Given the description of an element on the screen output the (x, y) to click on. 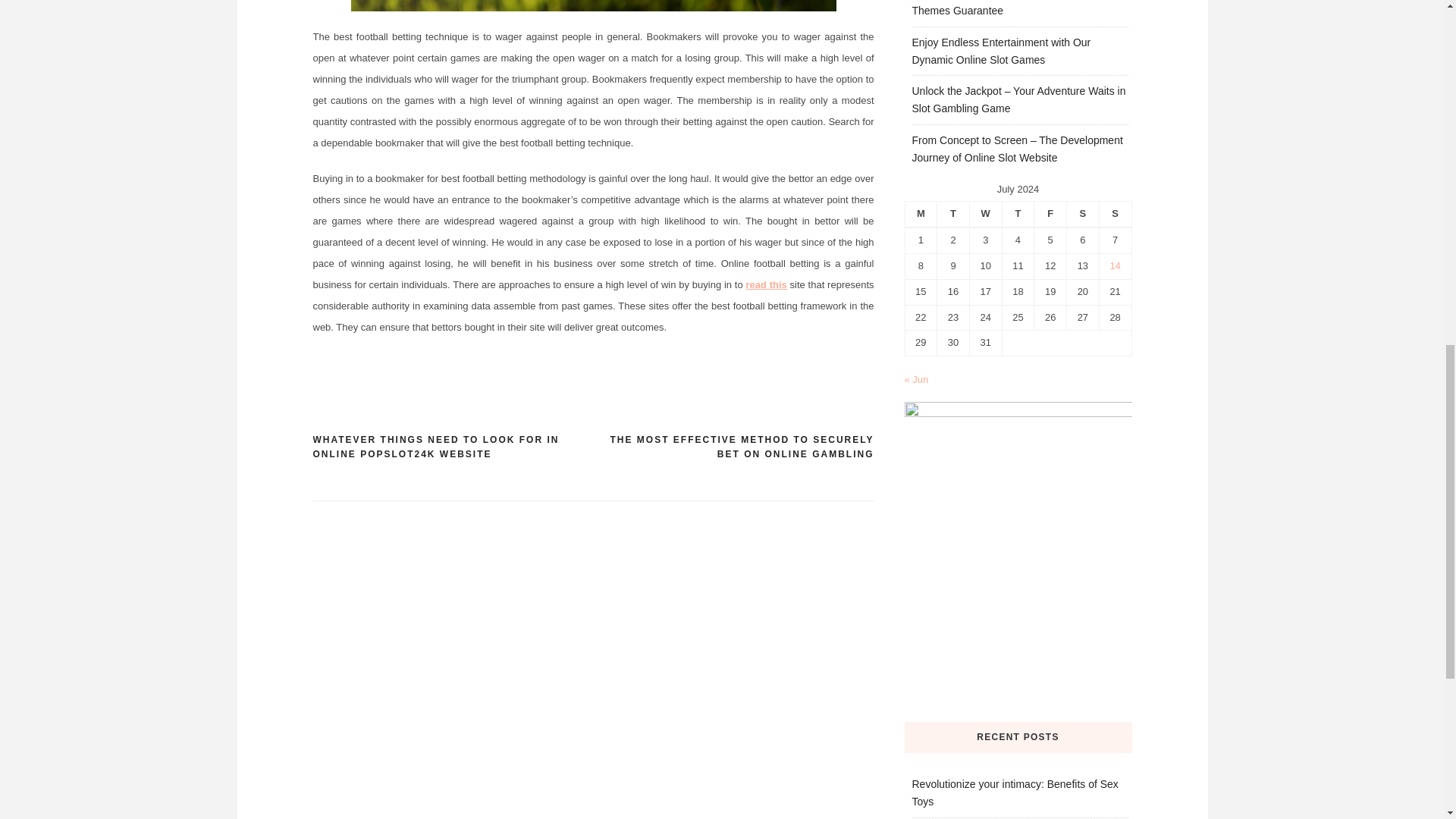
THE MOST EFFECTIVE METHOD TO SECURELY BET ON ONLINE GAMBLING (732, 447)
Monday (920, 214)
Friday (1050, 214)
14 (1114, 265)
Thursday (1017, 214)
Revolutionize your intimacy: Benefits of Sex Toys (1014, 792)
Wednesday (985, 214)
Sunday (1115, 214)
The Influence of Pop Culture on Online Slot Themes Guarantee (1013, 8)
Tuesday (953, 214)
read this (765, 284)
Saturday (1083, 214)
